Given the description of an element on the screen output the (x, y) to click on. 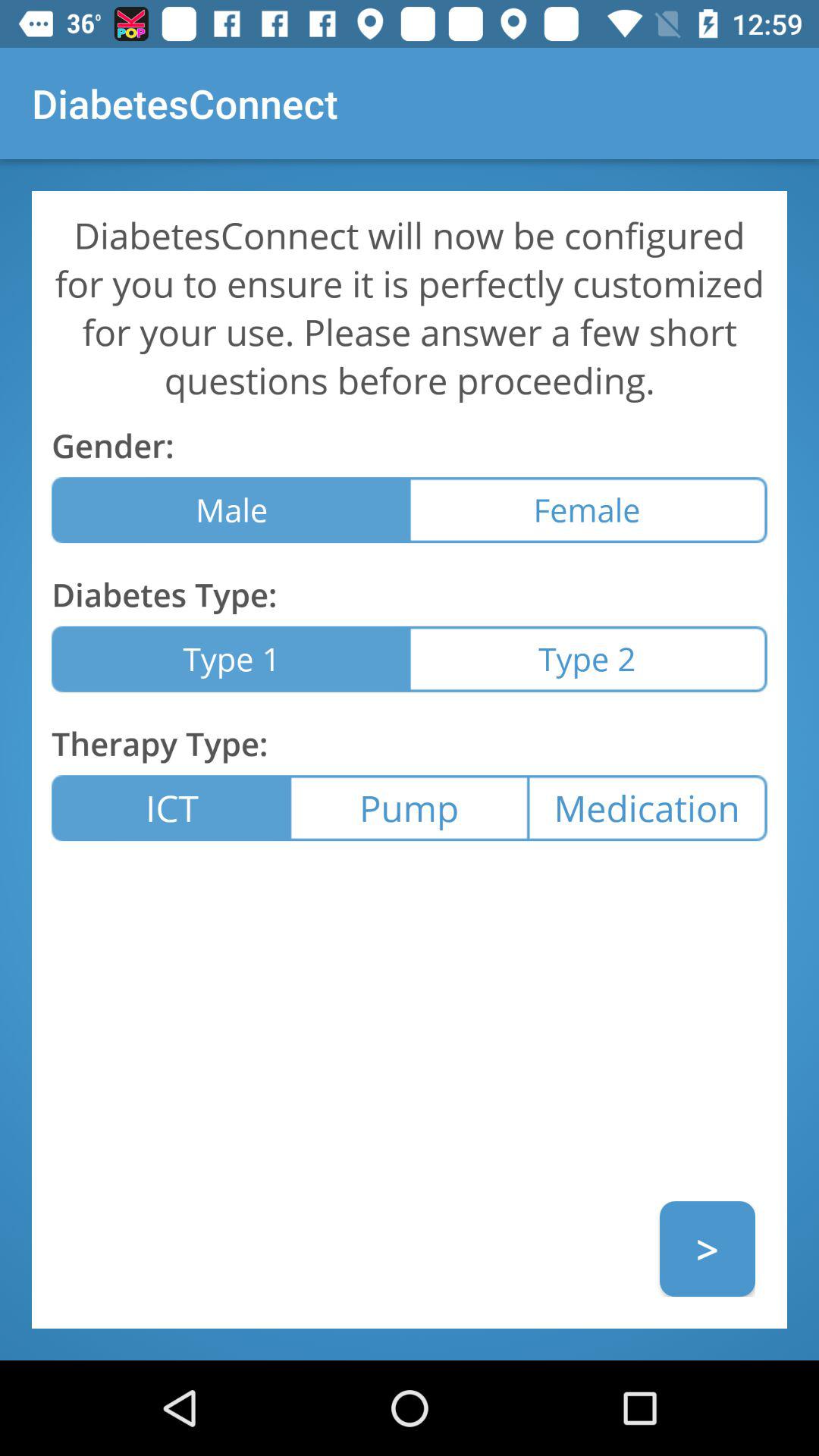
scroll to the type 2 icon (588, 659)
